Given the description of an element on the screen output the (x, y) to click on. 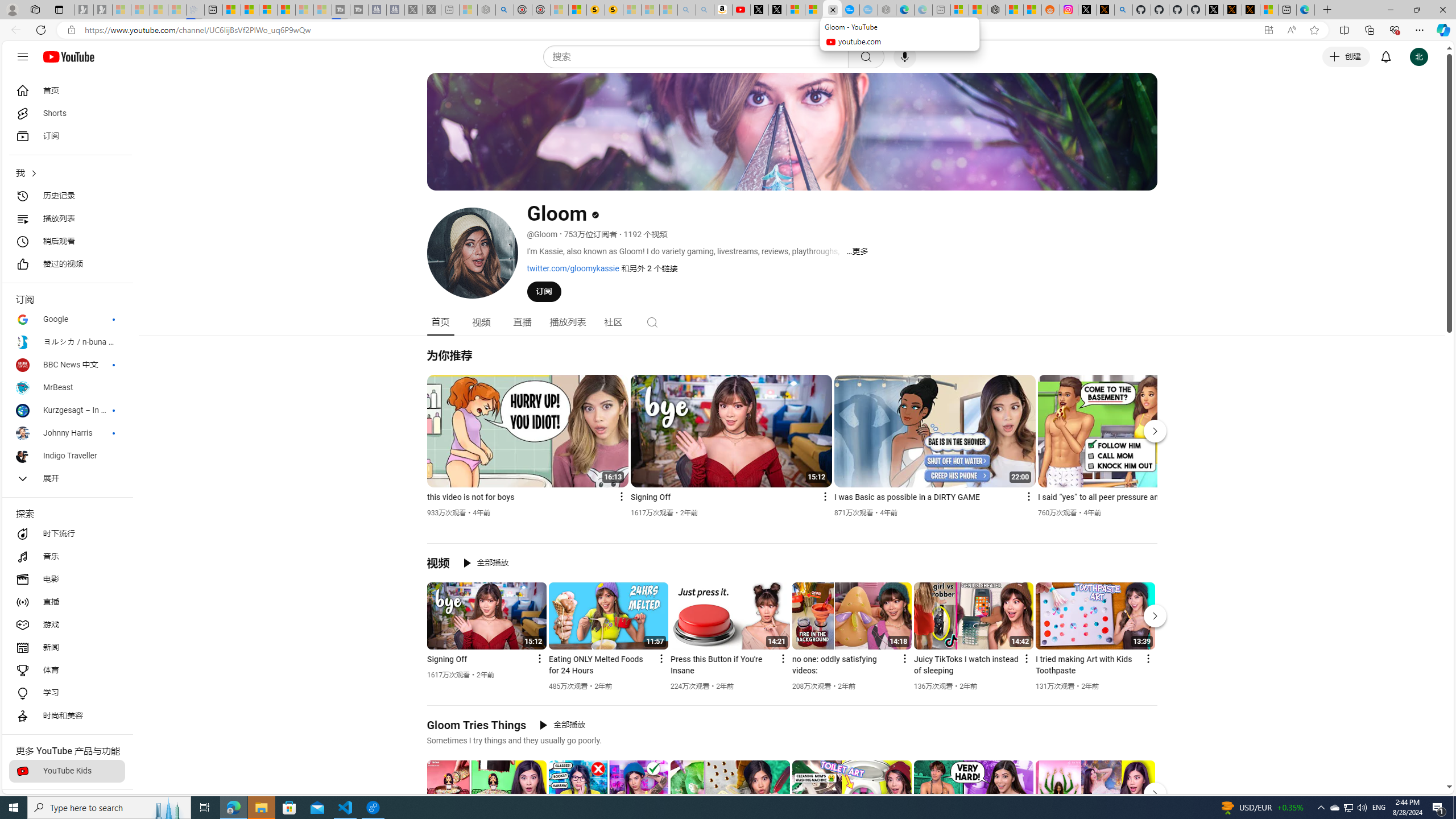
Settings and more (Alt+F) (1419, 29)
Minimize (1390, 9)
Restore (1416, 9)
Gloom - YouTube (831, 9)
